Given the description of an element on the screen output the (x, y) to click on. 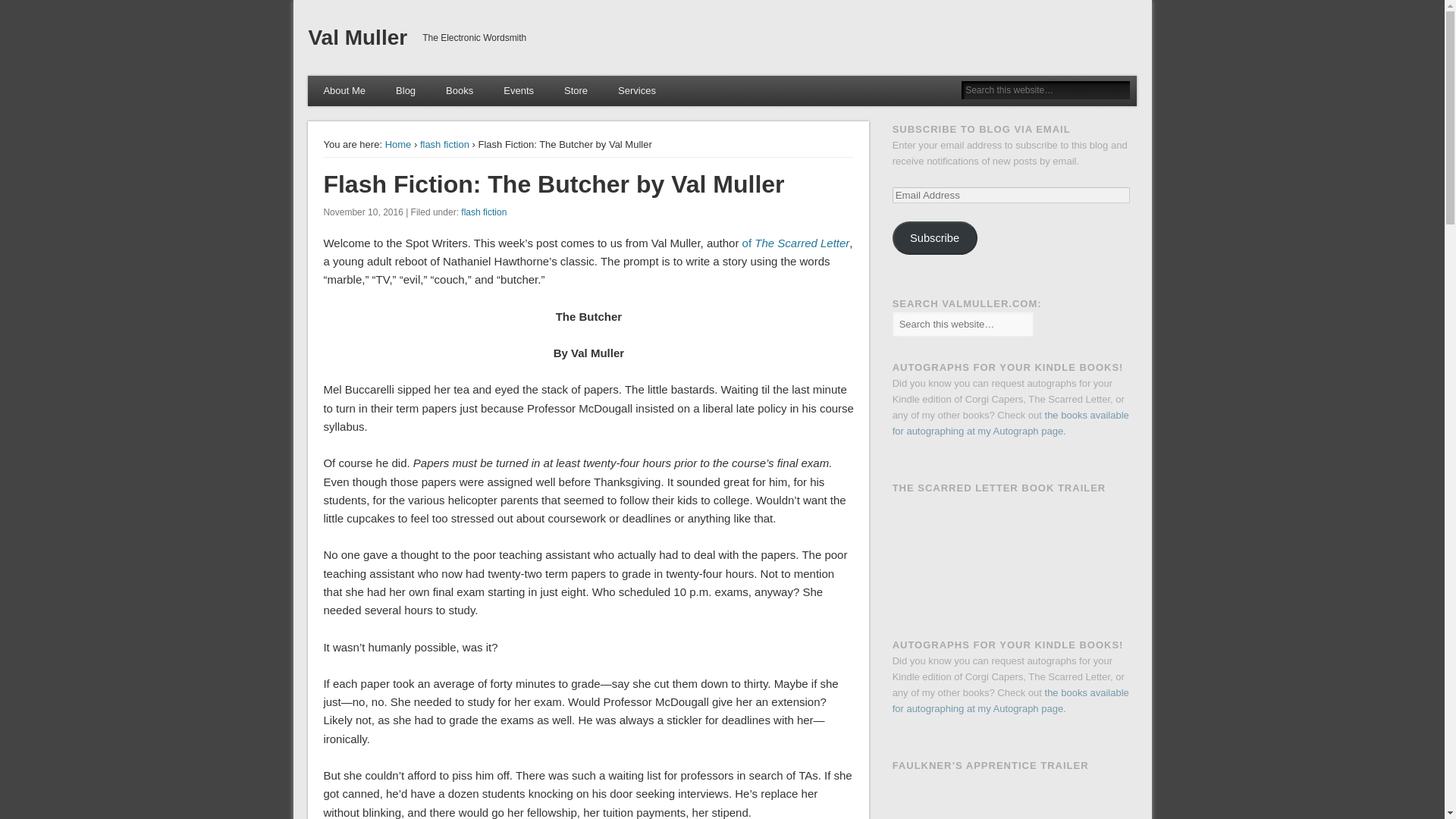
Store (575, 91)
the books available for autographing at my Autograph page. (1010, 700)
flash fiction (483, 212)
flash fiction (444, 143)
Books (458, 91)
Val Muller (357, 37)
the books available for autographing at my Autograph page. (1010, 422)
Blog (405, 91)
of The Scarred Letter (796, 242)
Home (398, 143)
